Given the description of an element on the screen output the (x, y) to click on. 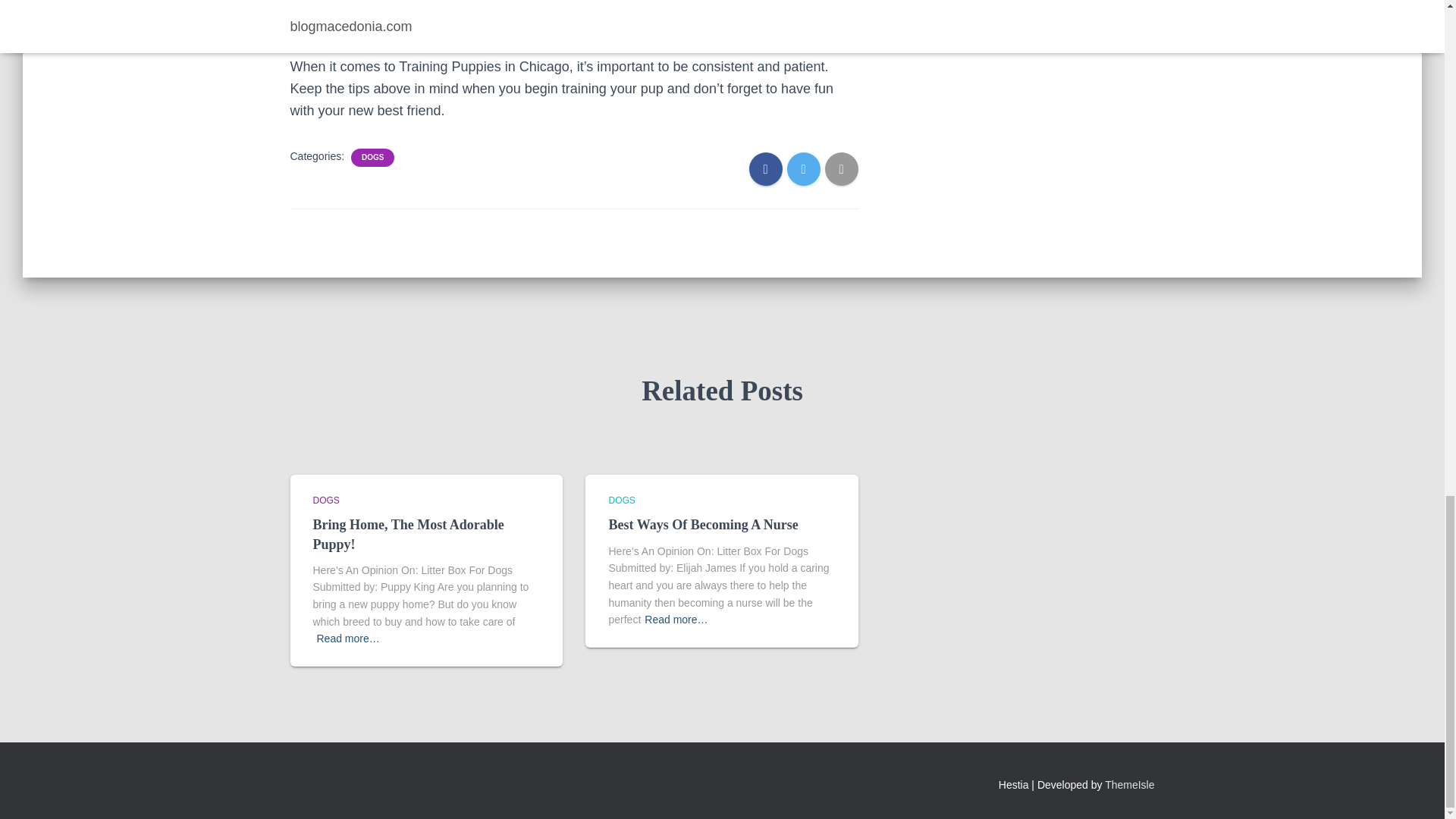
Best Ways Of Becoming A Nurse (702, 524)
Bring Home, The Most Adorable Puppy! (408, 533)
Best Ways Of Becoming A Nurse (702, 524)
View all posts in Dogs (621, 500)
DOGS (621, 500)
DOGS (372, 157)
DOGS (326, 500)
ThemeIsle (1129, 784)
Bring Home, The Most Adorable Puppy! (408, 533)
View all posts in Dogs (326, 500)
